Given the description of an element on the screen output the (x, y) to click on. 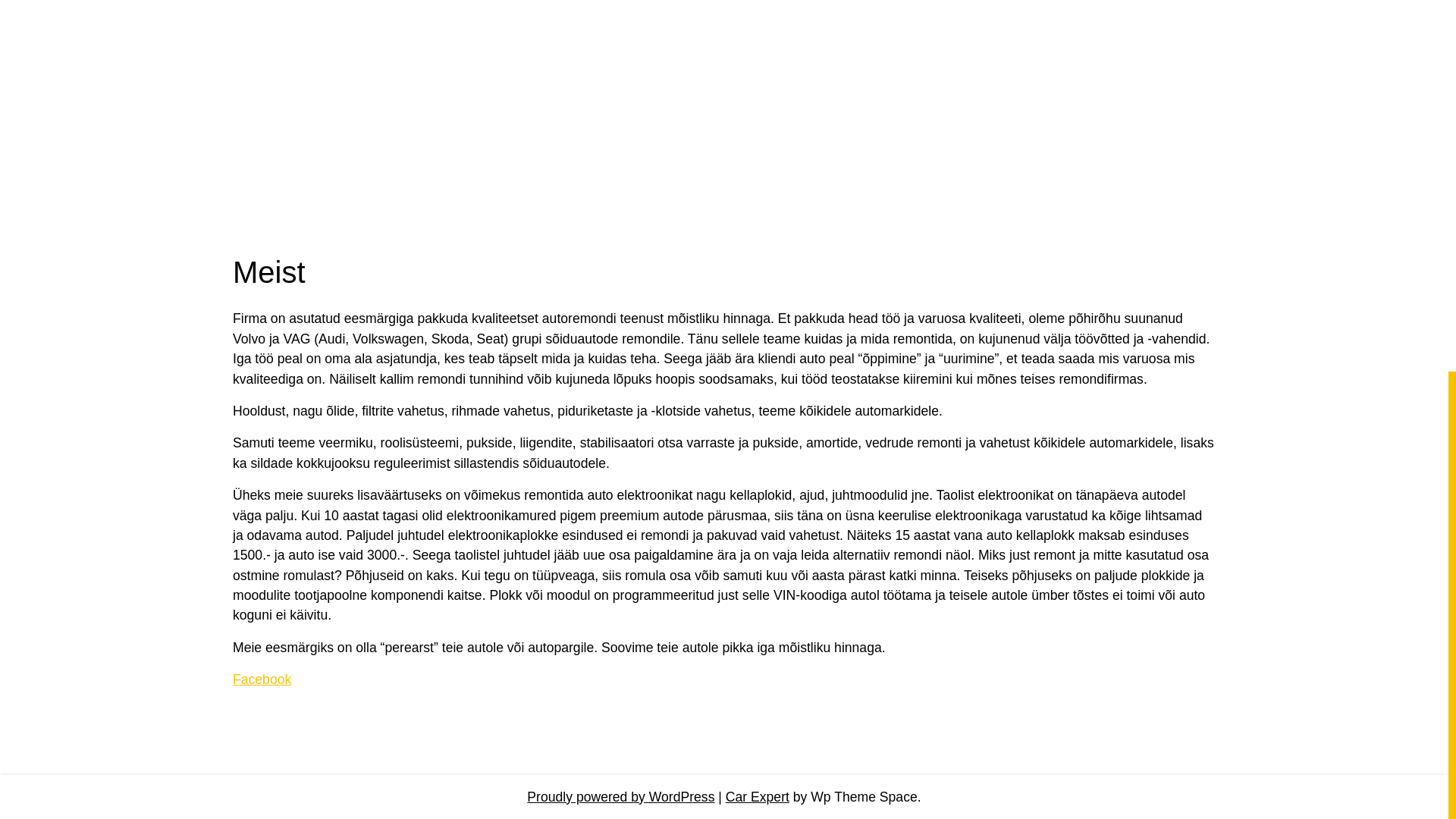
Facebook (261, 679)
Car Expert (757, 795)
Proudly powered by WordPress (620, 795)
